Given the description of an element on the screen output the (x, y) to click on. 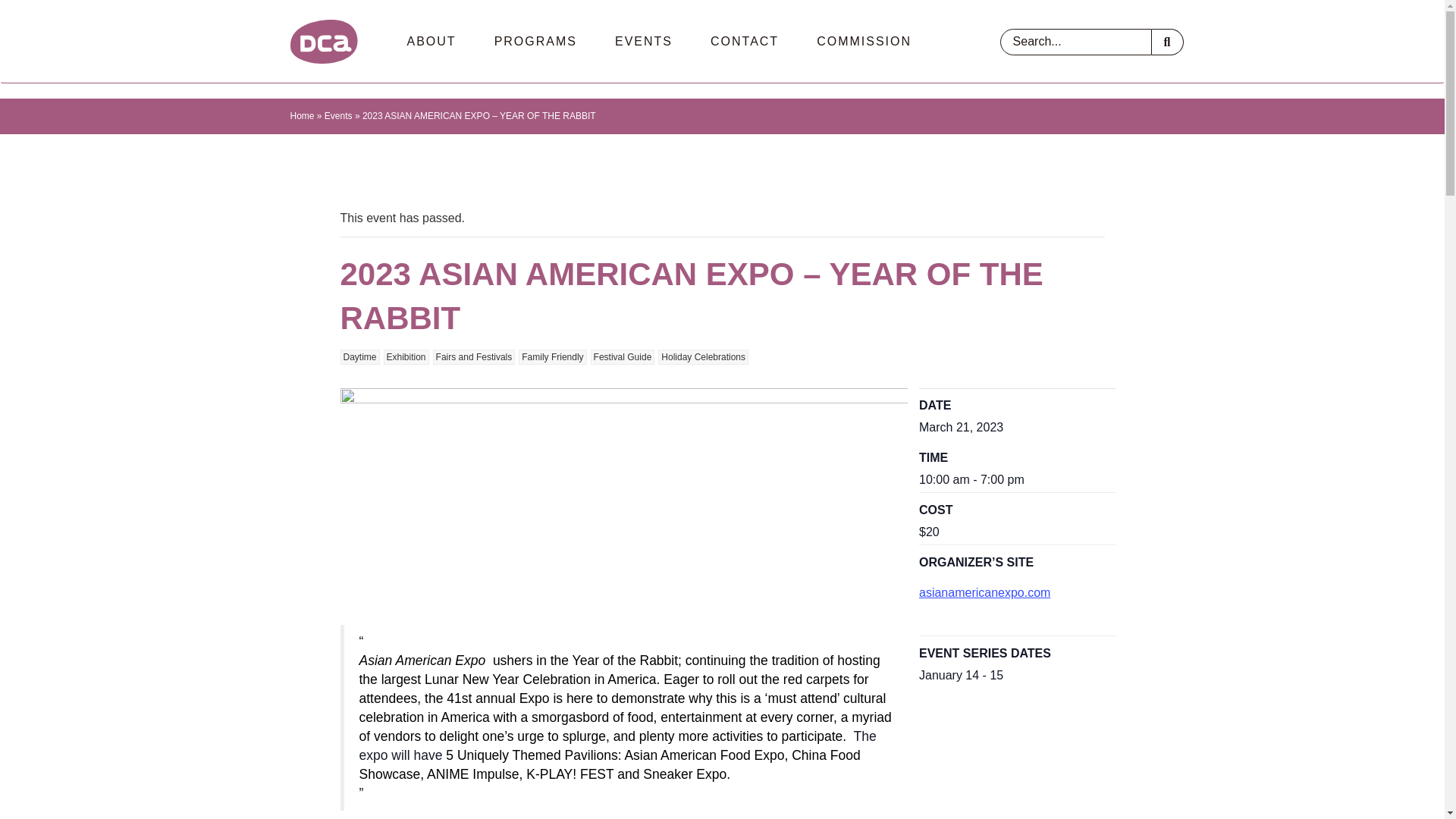
Events (338, 115)
ABOUT (431, 41)
Home (301, 115)
Family Friendly (552, 356)
Department of Cultural Affairs (322, 41)
2023-03-21 (960, 427)
2023-03-21 (971, 479)
Search (1167, 41)
COMMISSION (864, 41)
Festival Guide (623, 356)
Daytime (358, 356)
Fairs and Festivals (473, 356)
Exhibition (406, 356)
CONTACT (744, 41)
